Given the description of an element on the screen output the (x, y) to click on. 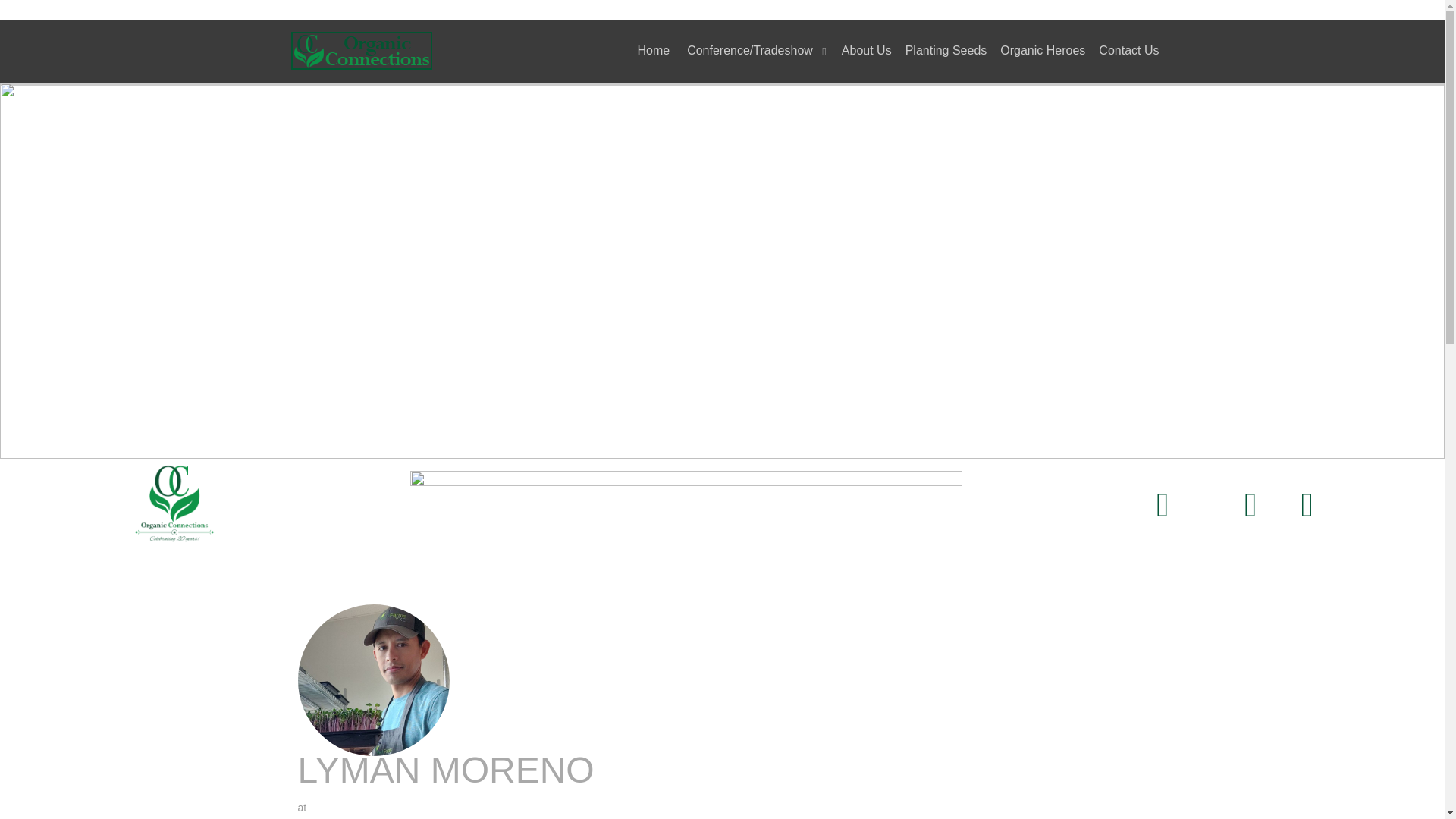
About Us (866, 50)
Planting Seeds (945, 50)
Contact Us (1128, 50)
Organic Heroes (1042, 50)
